Given the description of an element on the screen output the (x, y) to click on. 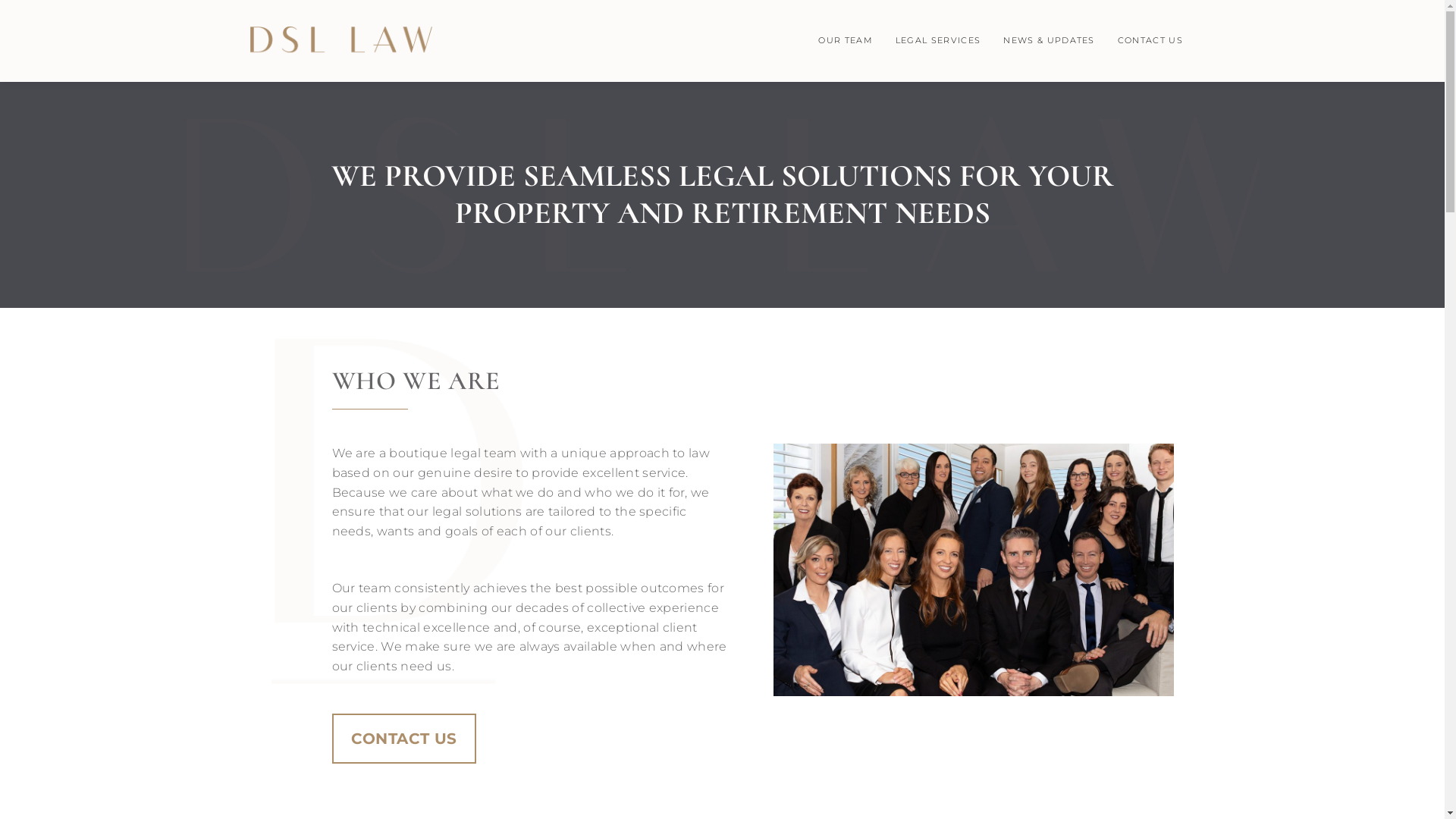
NEWS & UPDATES Element type: text (1048, 40)
LEGAL SERVICES Element type: text (937, 40)
OUR TEAM Element type: text (845, 40)
CONTACT US Element type: text (404, 738)
CONTACT US Element type: text (1150, 40)
